Given the description of an element on the screen output the (x, y) to click on. 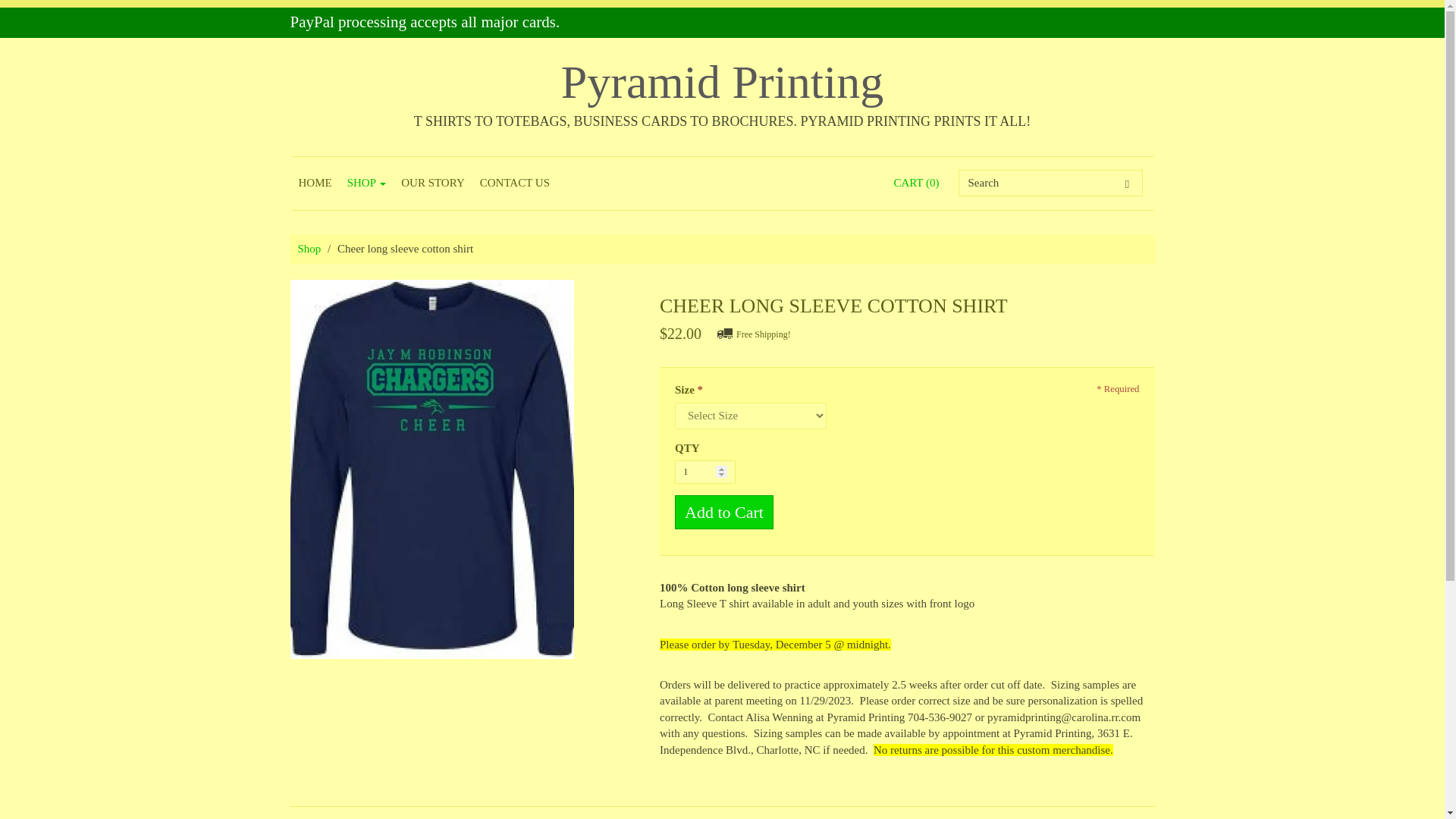
Add to Cart (724, 512)
HOME (315, 183)
Add to Cart (724, 512)
1 (705, 472)
Pyramid Printing (721, 81)
Shop (308, 248)
CONTACT US (514, 183)
SHOP (366, 183)
OUR STORY (432, 183)
